Given the description of an element on the screen output the (x, y) to click on. 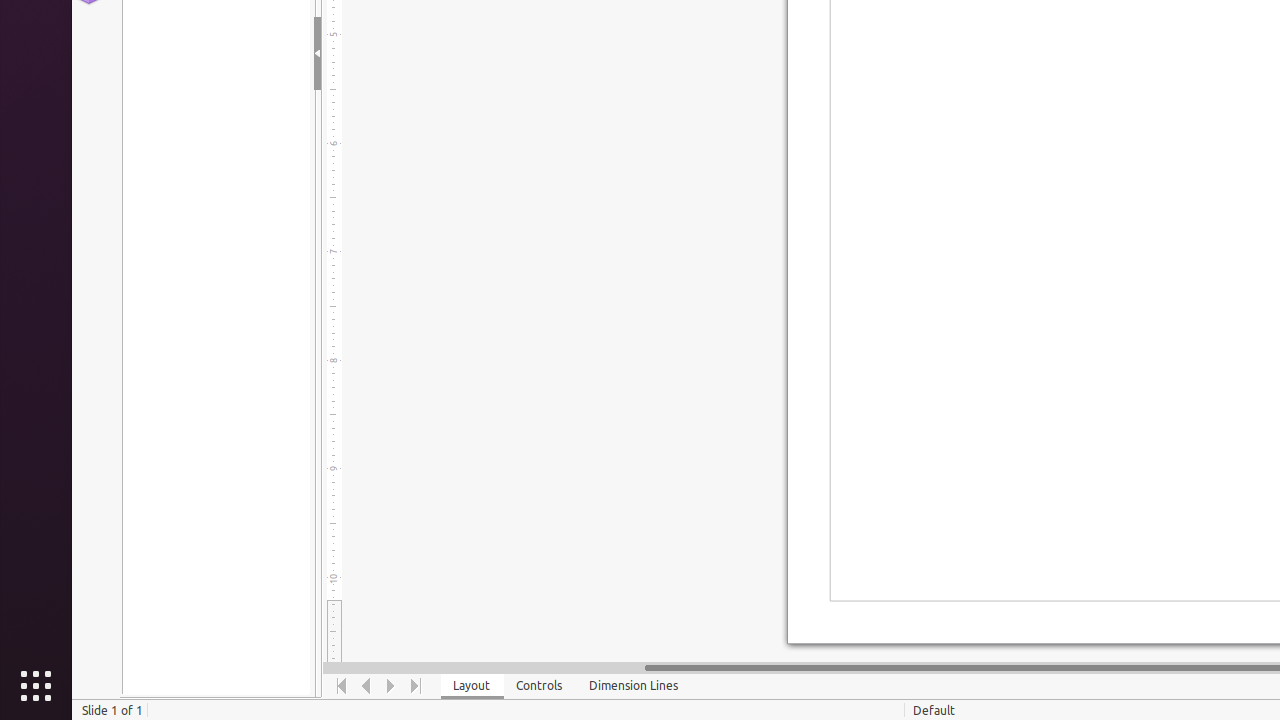
Move To End Element type: push-button (416, 686)
Move Left Element type: push-button (366, 686)
Layout Element type: page-tab (472, 686)
Move To Home Element type: push-button (341, 686)
Controls Element type: page-tab (540, 686)
